Given the description of an element on the screen output the (x, y) to click on. 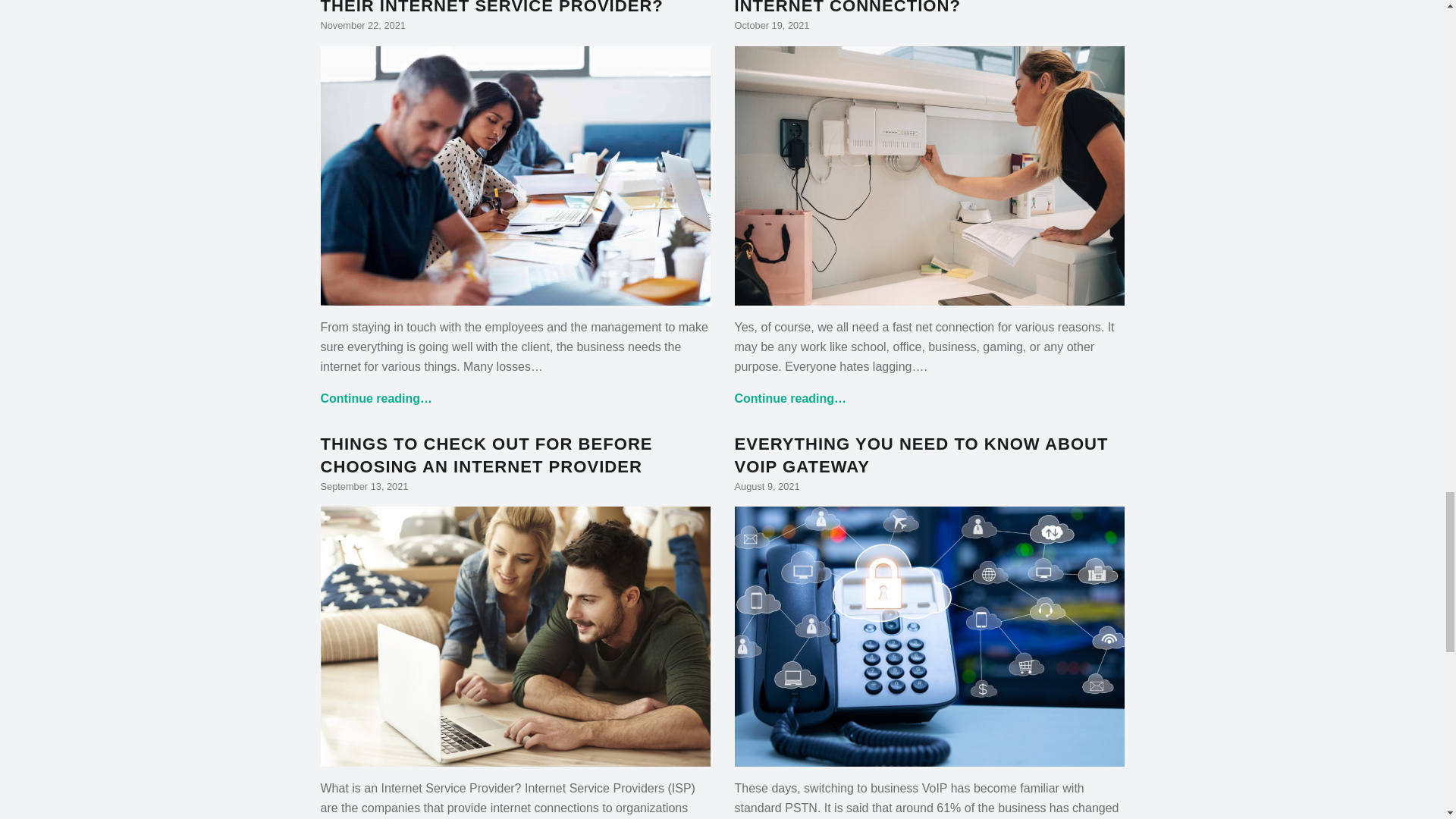
August 9, 2021 (766, 486)
THINGS TO CHECK OUT FOR BEFORE CHOOSING AN INTERNET PROVIDER (486, 454)
Things To Check Out For Before Choosing An Internet Provider (515, 756)
October 19, 2021 (771, 25)
WHY DO WE NEED TO HAVE A HIGH-SPEED INTERNET CONNECTION? (923, 7)
2:06 am (771, 25)
November 22, 2021 (362, 25)
2:14 am (362, 25)
